Given the description of an element on the screen output the (x, y) to click on. 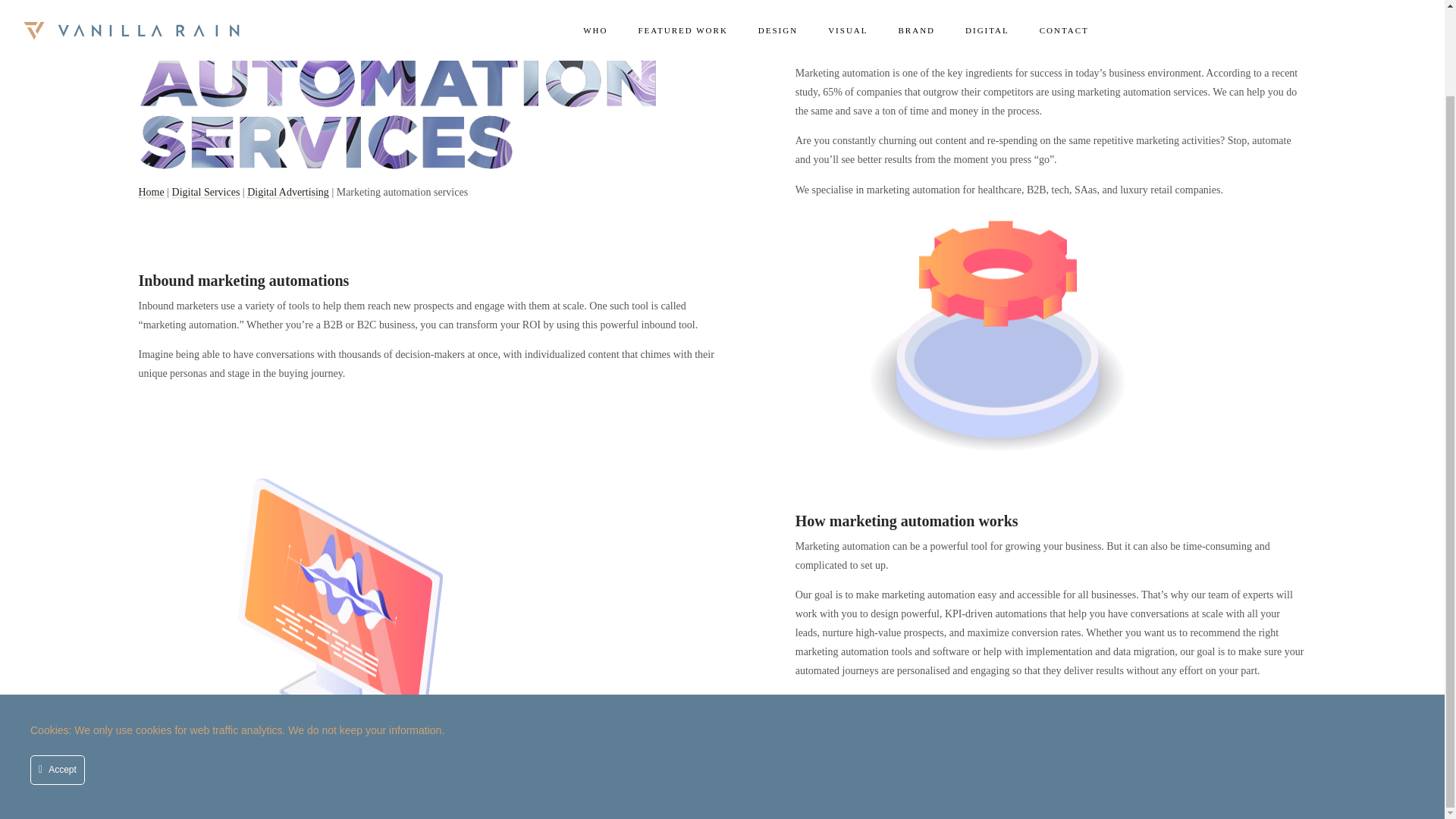
Digital Advertising (288, 192)
Home (150, 192)
Terms of Service (522, 781)
Privacy Policy (440, 781)
Digital Services (205, 192)
